Given the description of an element on the screen output the (x, y) to click on. 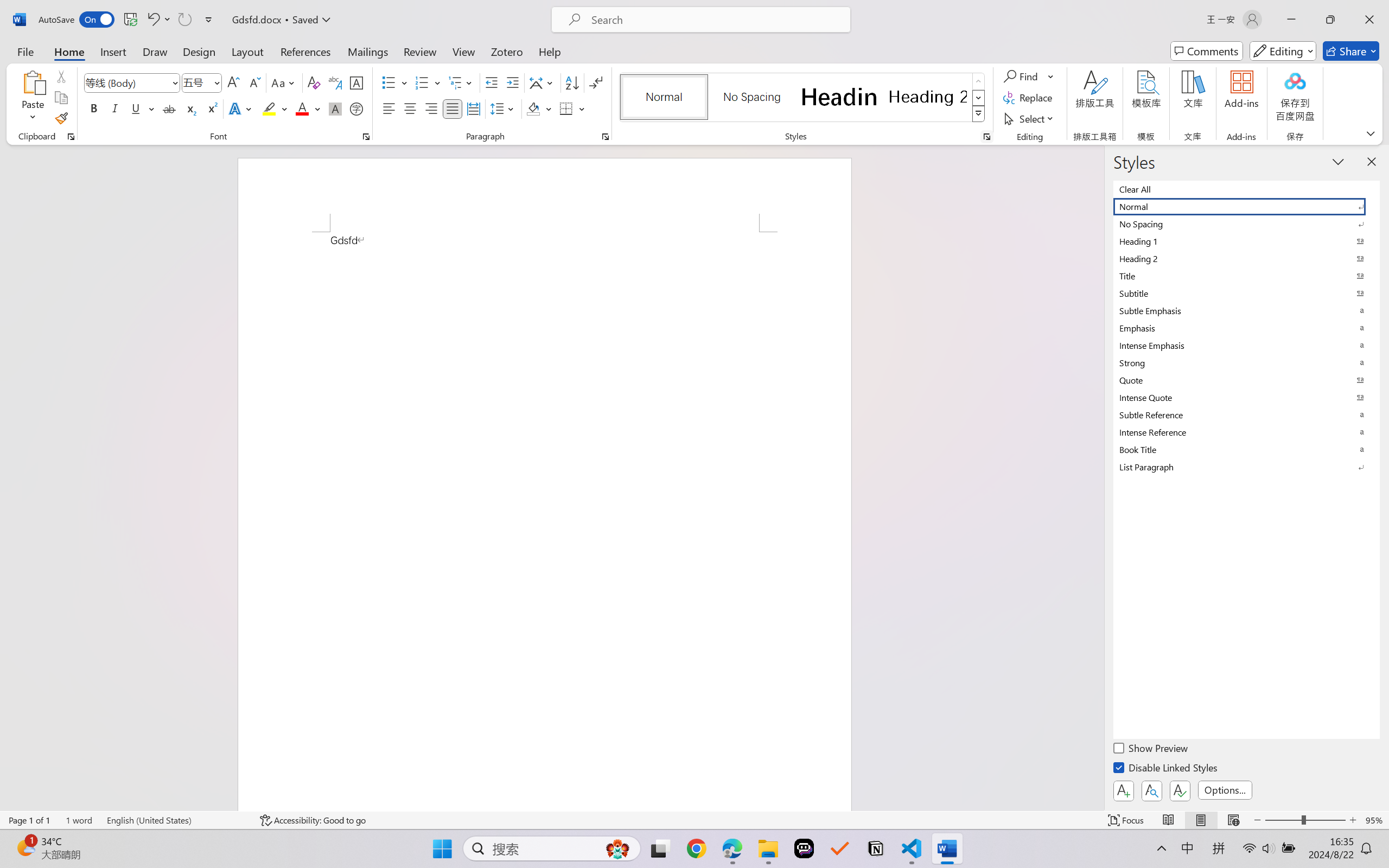
Disable Linked Styles (1166, 769)
Class: MsoCommandBar (694, 819)
Zoom 95% (1374, 819)
Paragraph... (605, 136)
Intense Reference (1246, 431)
Row Down (978, 97)
Page 1 content (544, 521)
